Given the description of an element on the screen output the (x, y) to click on. 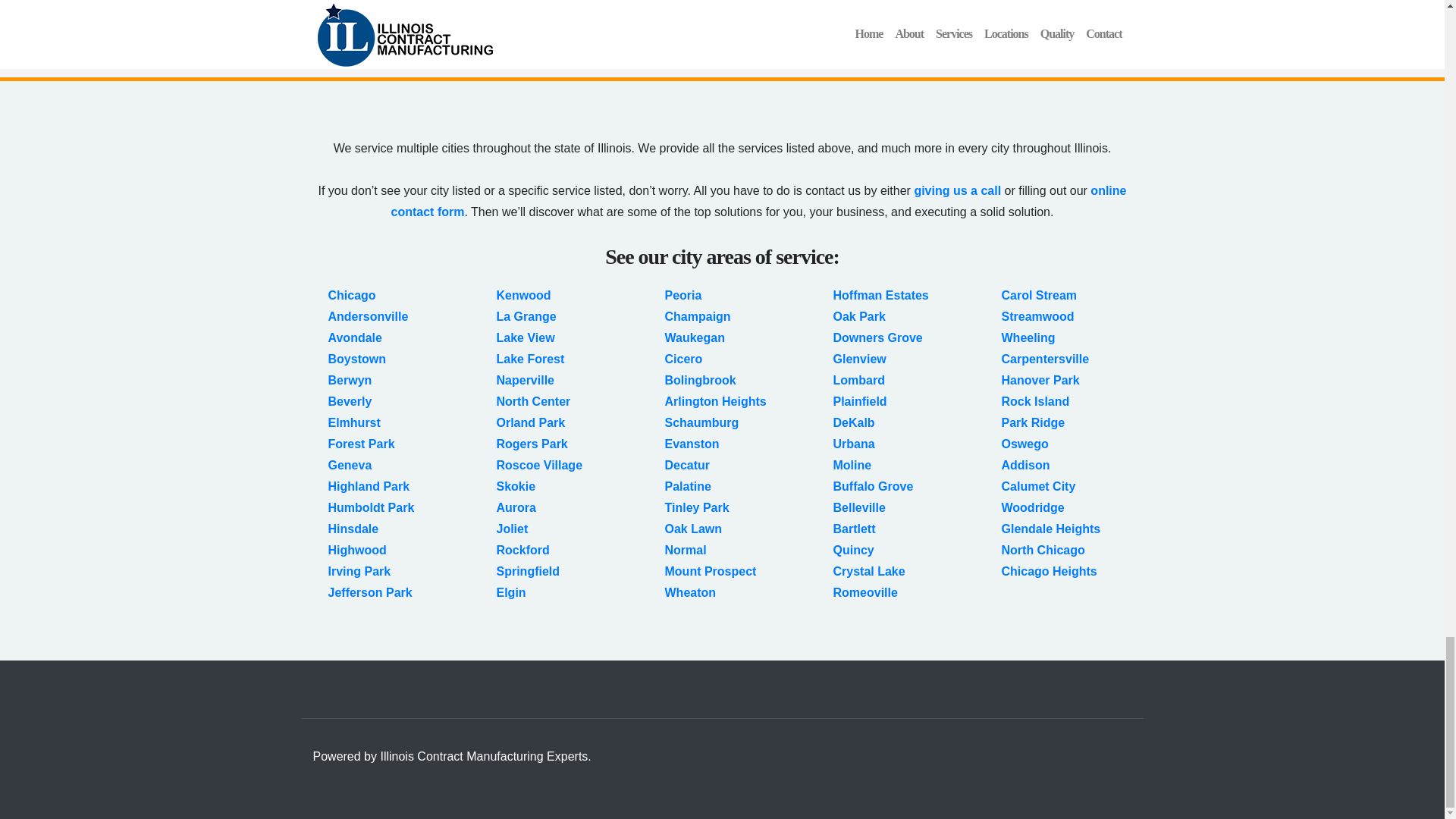
Job Shop (777, 18)
Structural Steel Bending (1060, 18)
Contract Manufacturing (817, 2)
Steel Bending (1030, 2)
